Given the description of an element on the screen output the (x, y) to click on. 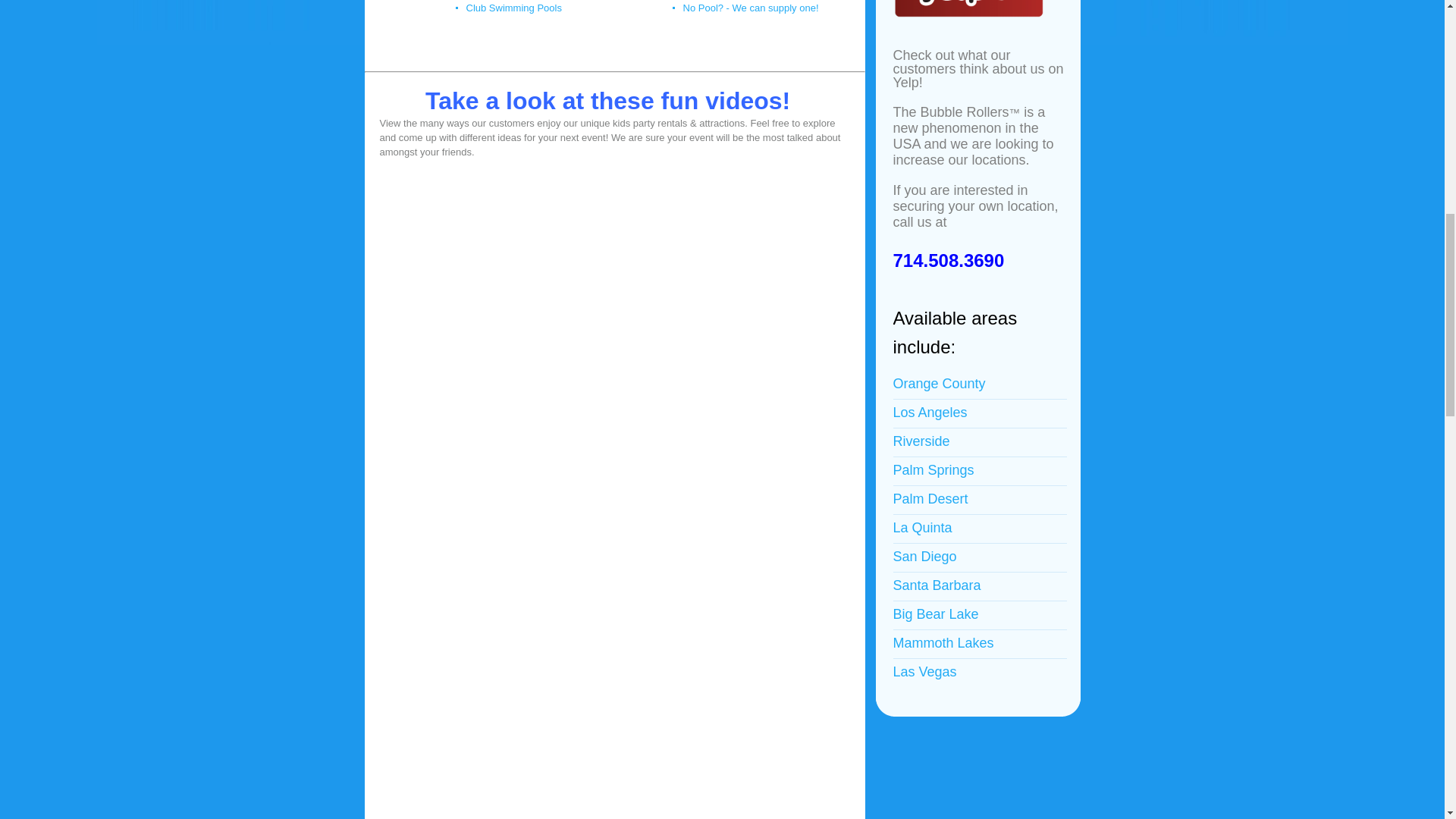
Santa Barbara (937, 585)
Los Angeles (930, 412)
Palm Desert (930, 498)
Riverside (921, 441)
Mammoth Lakes (943, 642)
San Diego (924, 556)
Las Vegas (924, 671)
Palm Springs (933, 469)
La Quinta (922, 527)
Big Bear Lake (935, 613)
Orange County (939, 383)
